Given the description of an element on the screen output the (x, y) to click on. 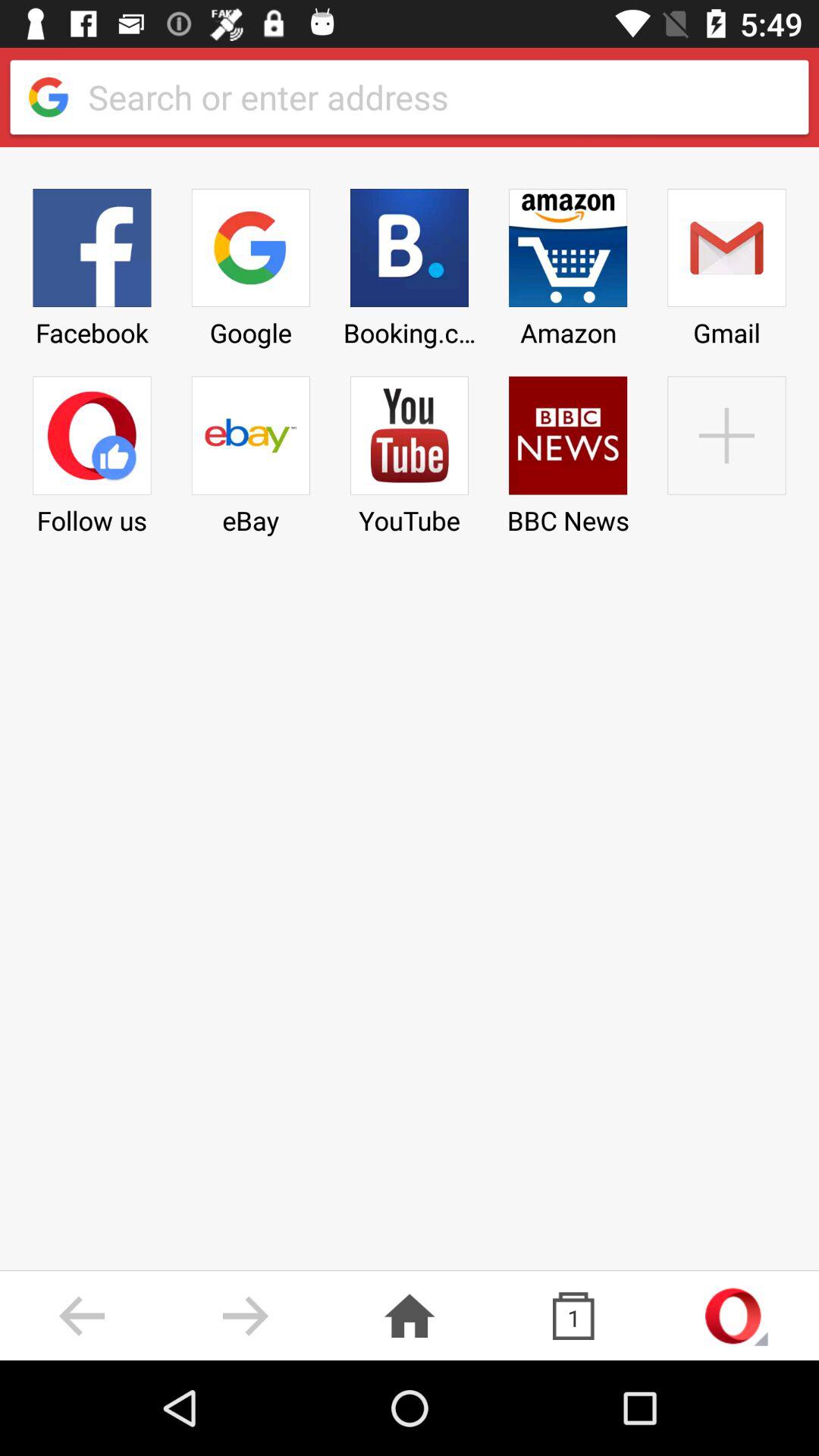
tap the icon to the right of booking.com item (568, 450)
